Given the description of an element on the screen output the (x, y) to click on. 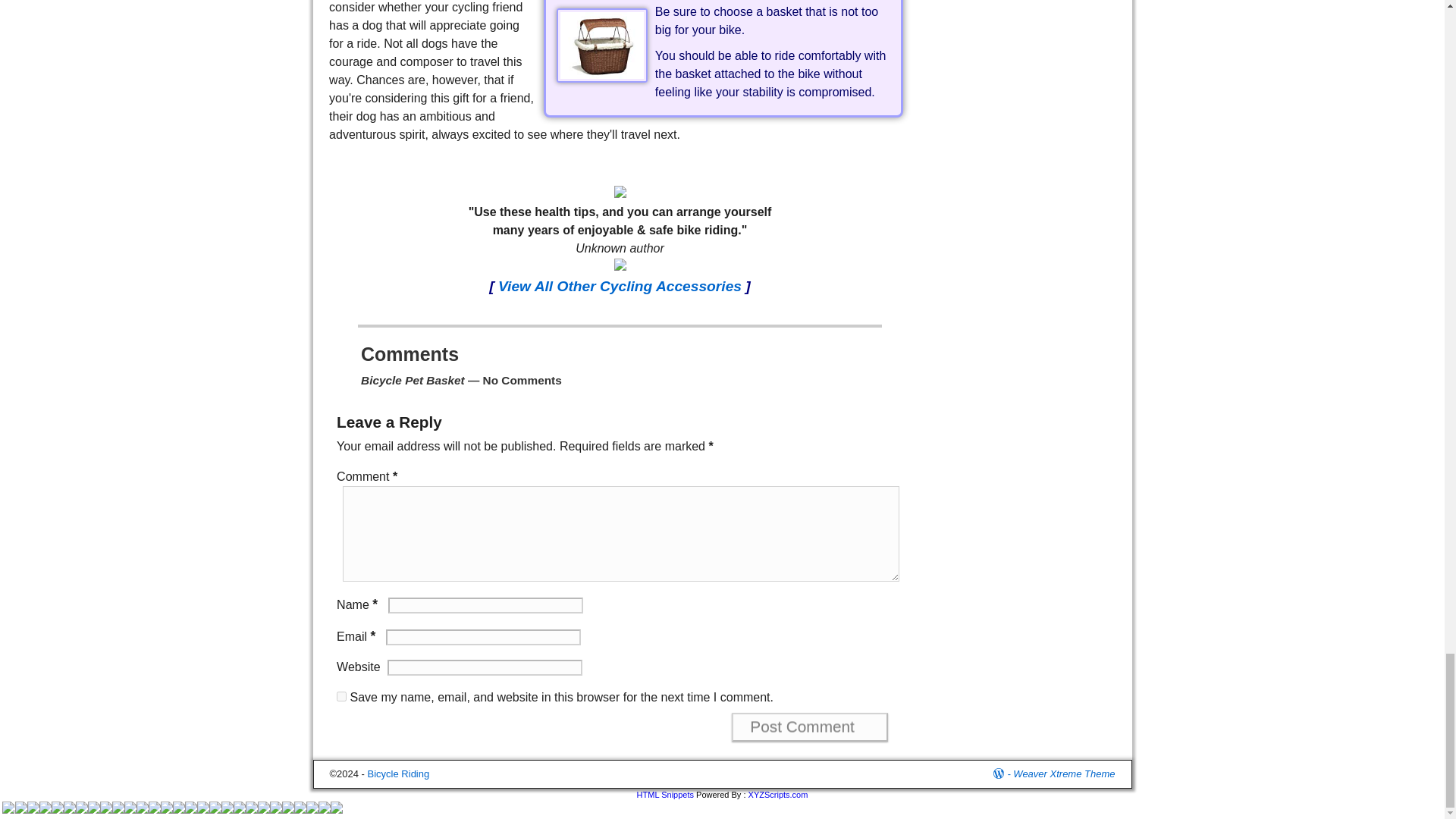
Post Comment (810, 727)
yes (341, 696)
